Given the description of an element on the screen output the (x, y) to click on. 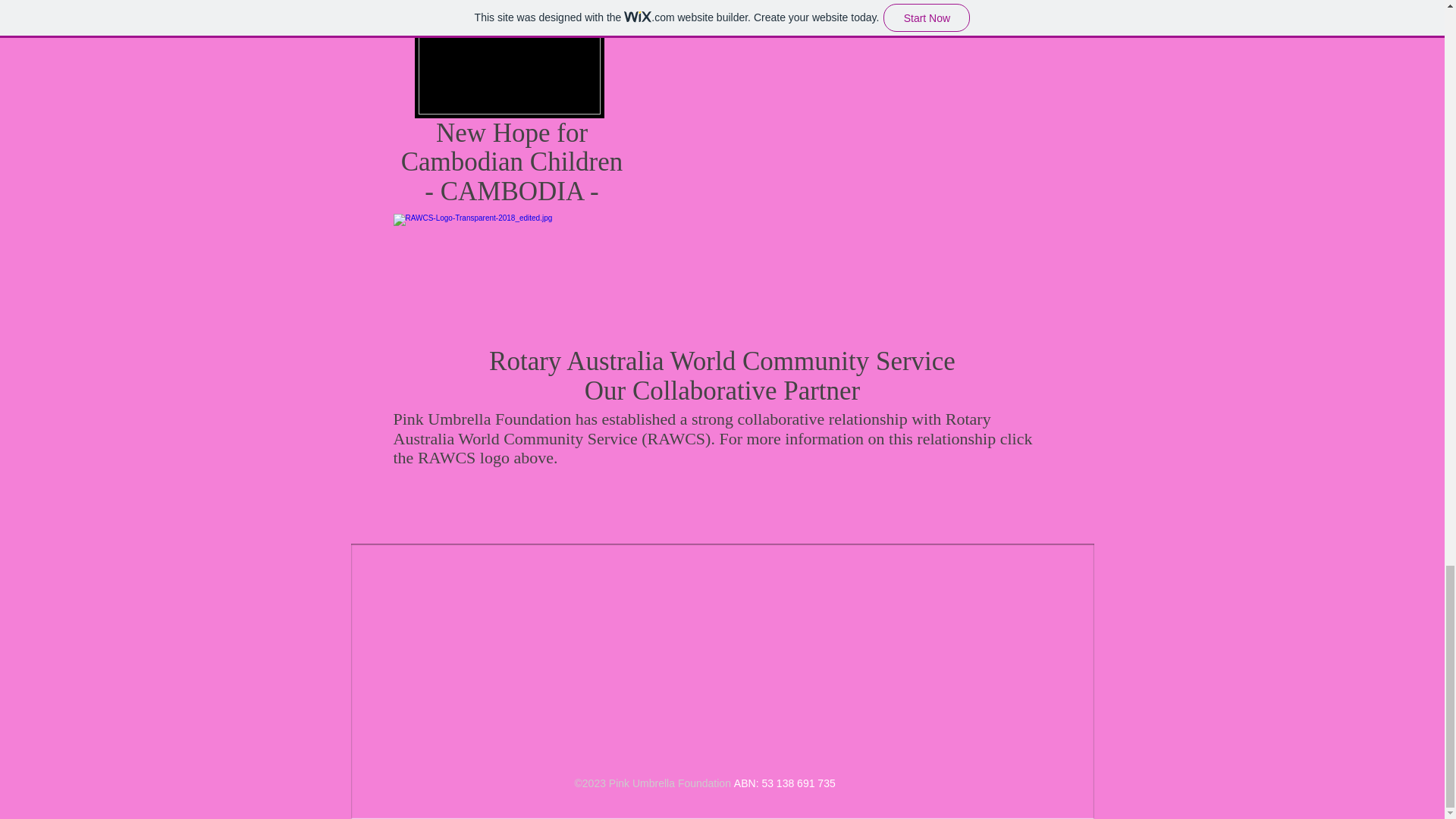
RAWCS-Logo-Transparent-2018.png (512, 161)
